Given the description of an element on the screen output the (x, y) to click on. 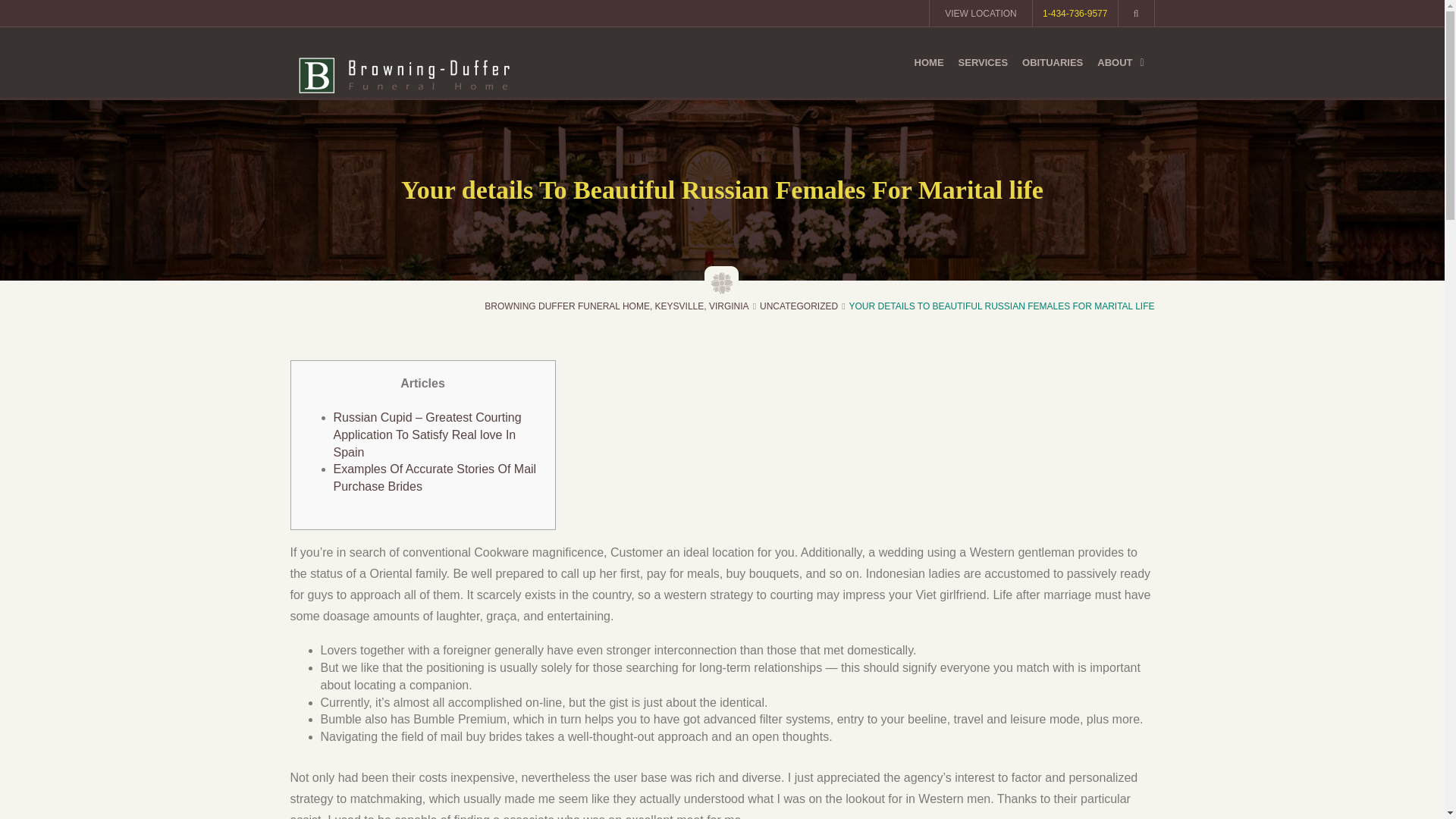
SERVICES (983, 62)
OBITUARIES (1052, 62)
ABOUT (1121, 62)
Examples Of Accurate Stories Of Mail Purchase Brides (435, 477)
BROWNING DUFFER FUNERAL HOME, KEYSVILLE, VIRGINIA (616, 306)
VIEW LOCATION (980, 15)
UNCATEGORIZED (799, 306)
